Given the description of an element on the screen output the (x, y) to click on. 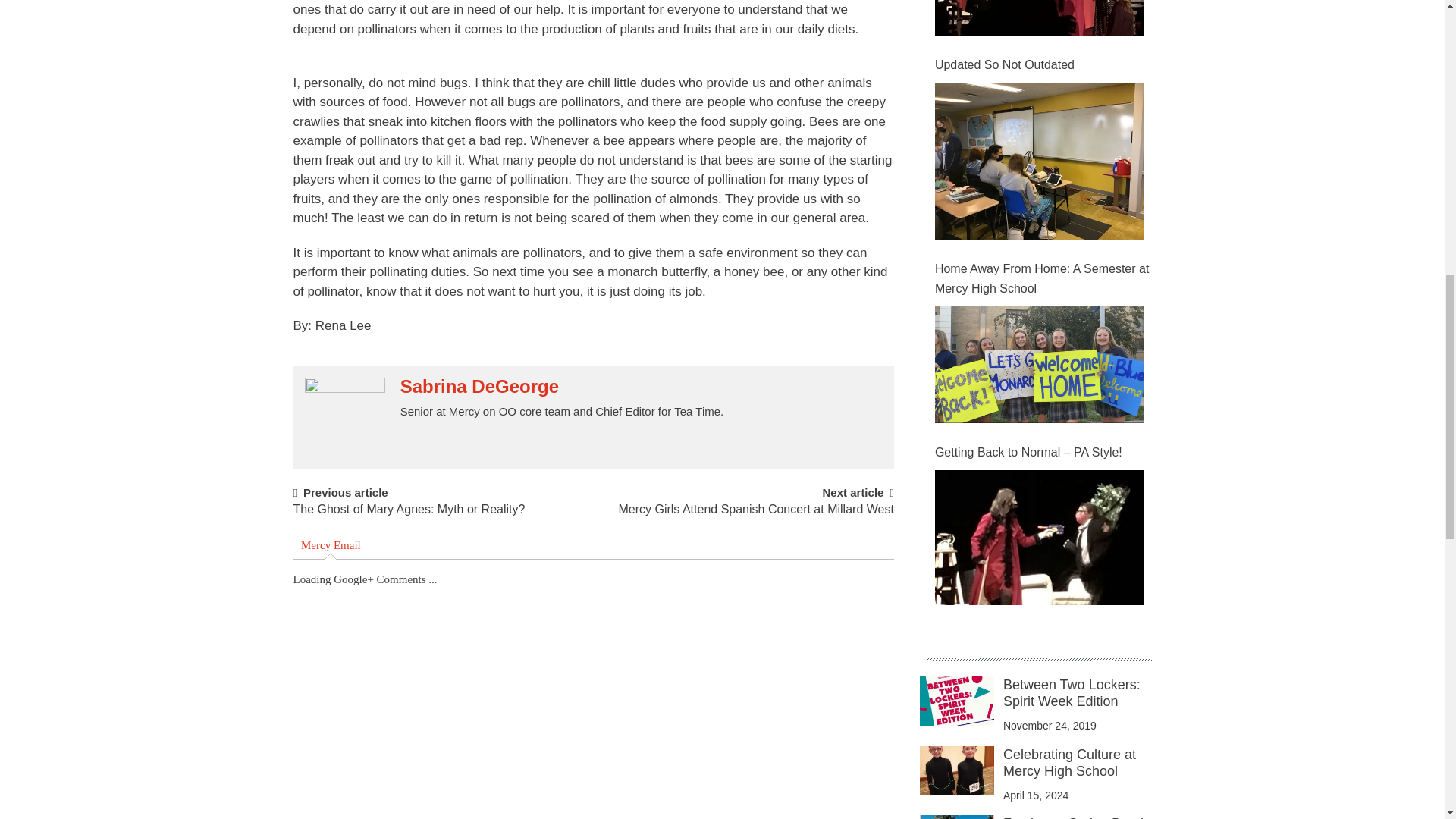
Updated So Not Outdated (1039, 160)
Between Two Lockers: Spirit Week Edition (1071, 693)
Sabrina DeGeorge (479, 386)
Updated So Not Outdated (1042, 65)
Home Away From Home: A Semester at Mercy High School (1042, 278)
Home Away From Home: A Semester at Mercy High School (1039, 364)
Mercy Email (331, 545)
The Ghost of Mary Agnes: Myth or Reality? (408, 516)
November 24, 2019 (1049, 725)
PA as an underclassman (1039, 18)
